Given the description of an element on the screen output the (x, y) to click on. 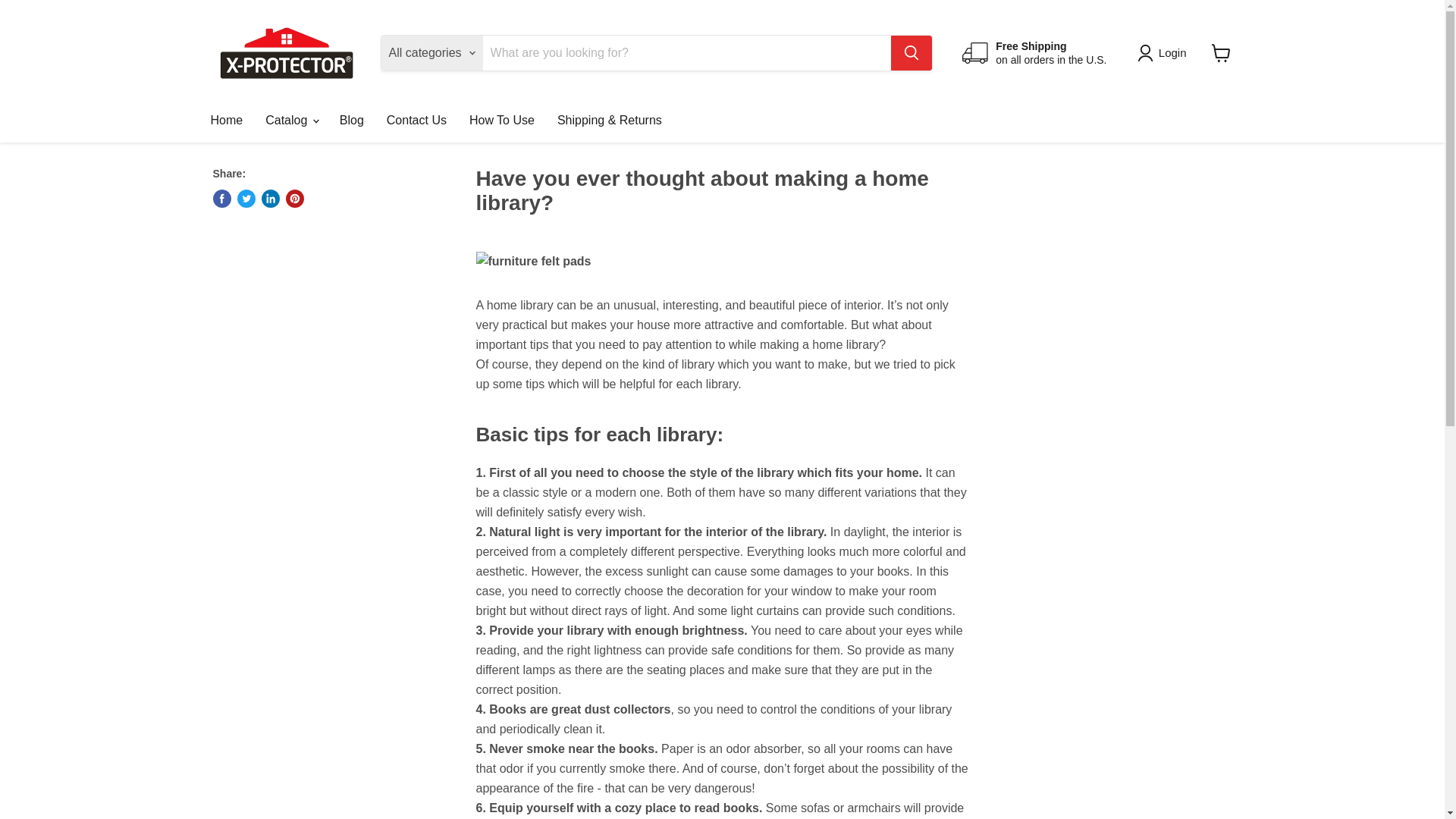
Contact Us (416, 120)
View cart (1221, 52)
How To Use (502, 120)
Login (1172, 53)
Home (225, 120)
Blog (352, 120)
